Given the description of an element on the screen output the (x, y) to click on. 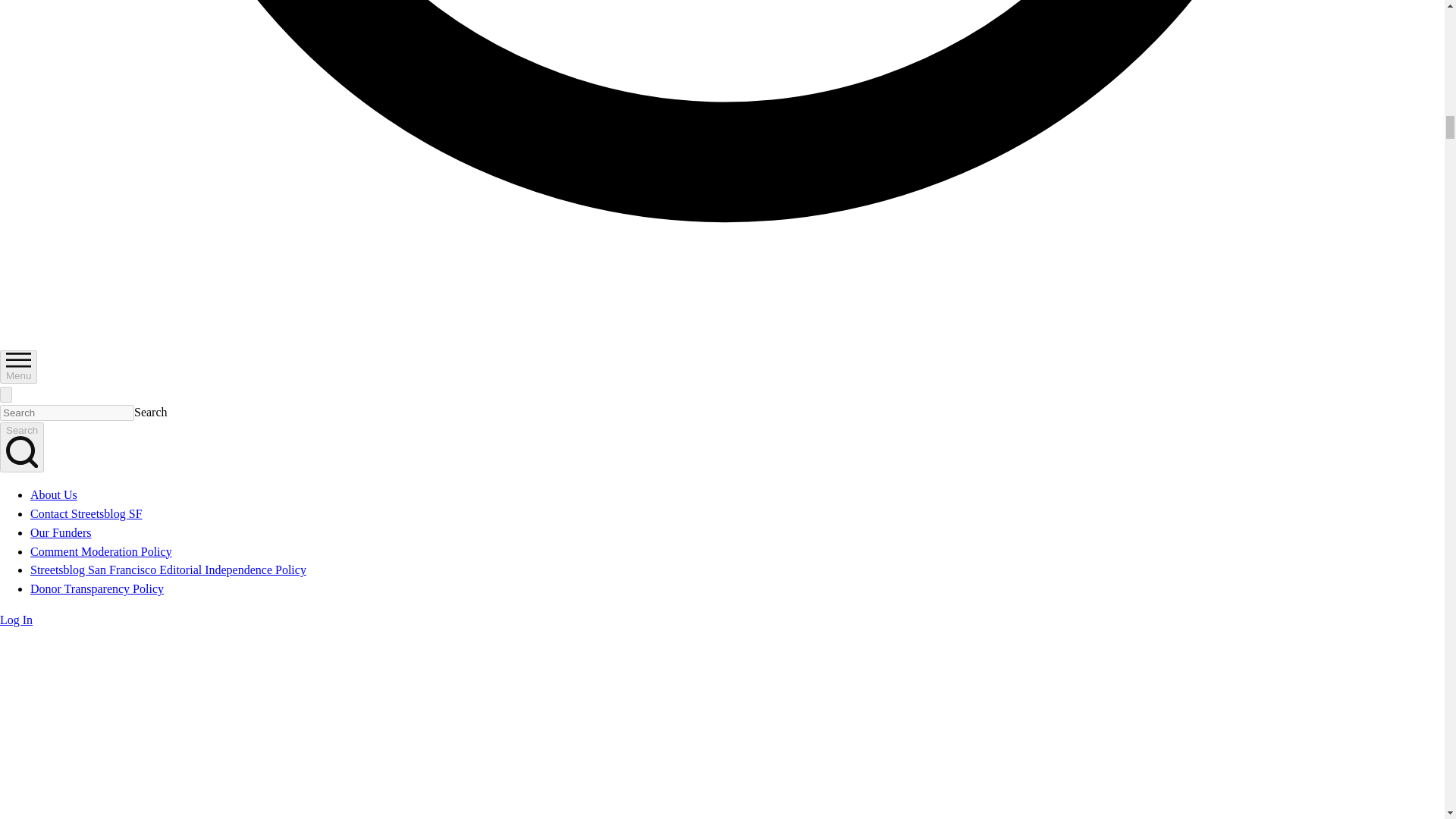
Contact Streetsblog SF (86, 513)
Donor Transparency Policy (96, 588)
Streetsblog San Francisco Editorial Independence Policy (167, 569)
Our Funders (60, 532)
Menu (18, 366)
About Us (53, 494)
Comment Moderation Policy (100, 551)
